Given the description of an element on the screen output the (x, y) to click on. 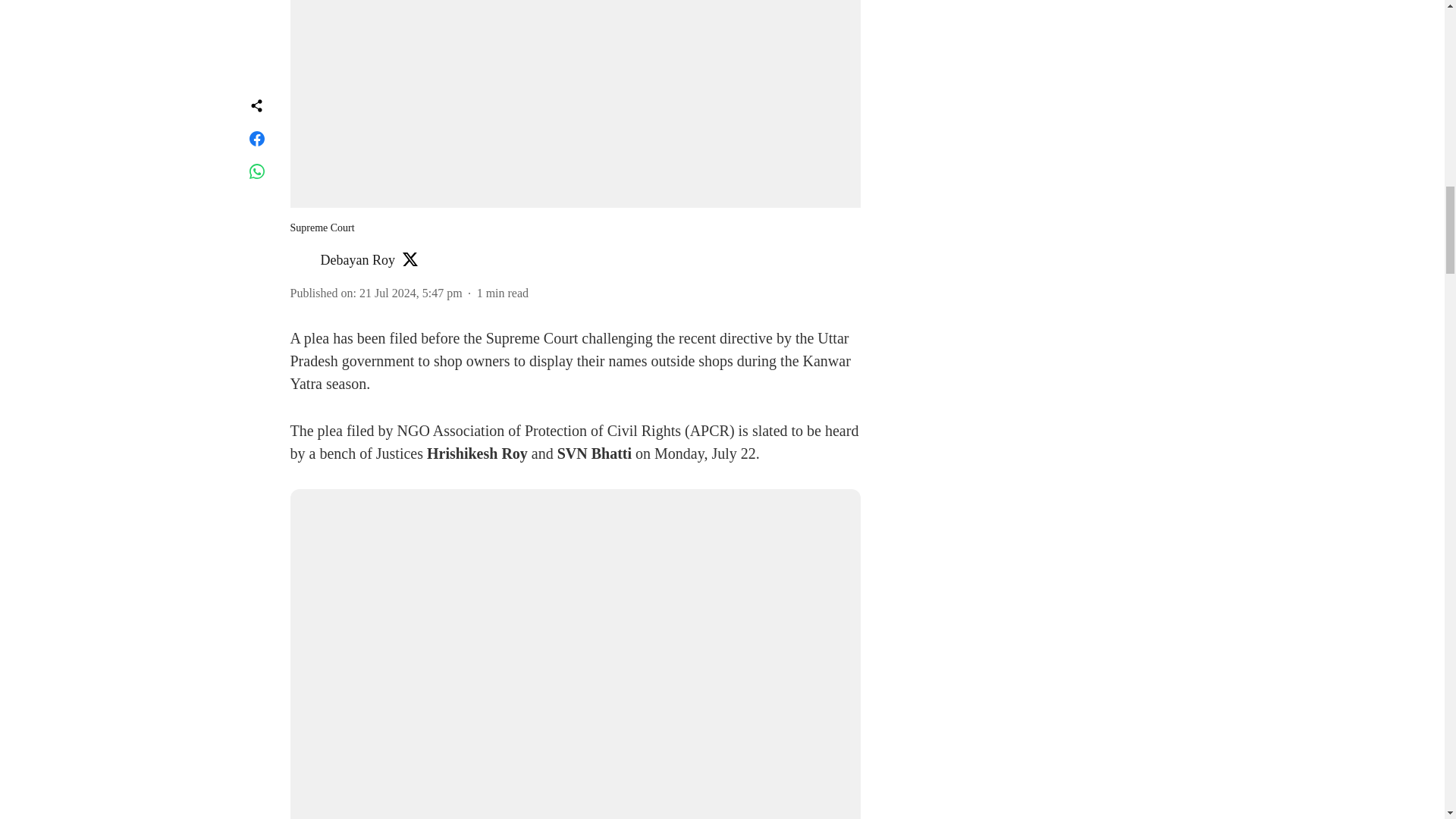
2024-07-21 09:47 (411, 292)
3rd party ad content (1015, 53)
Debayan Roy (357, 259)
